Given the description of an element on the screen output the (x, y) to click on. 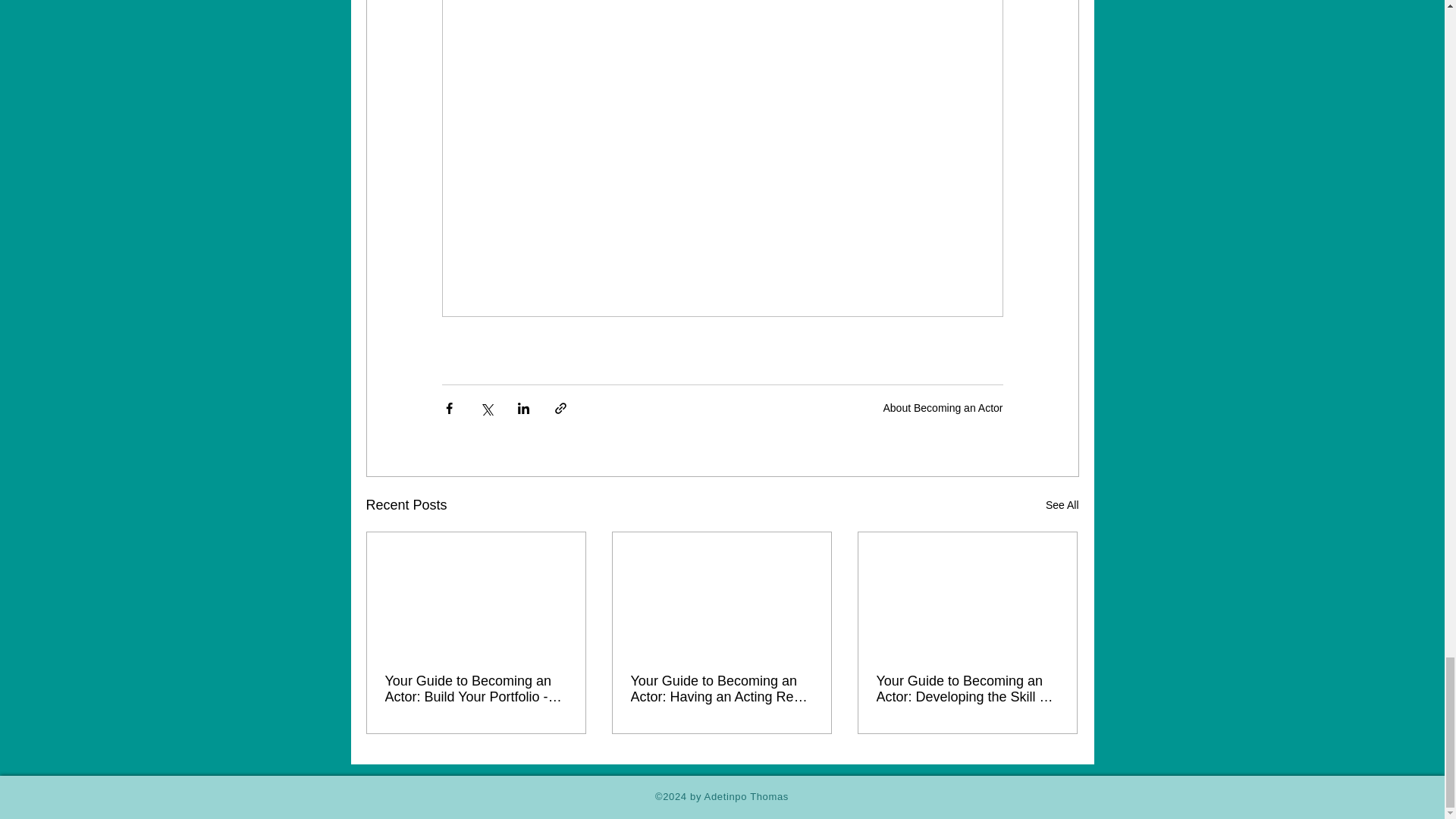
See All (1061, 505)
About Becoming an Actor (942, 407)
